Given the description of an element on the screen output the (x, y) to click on. 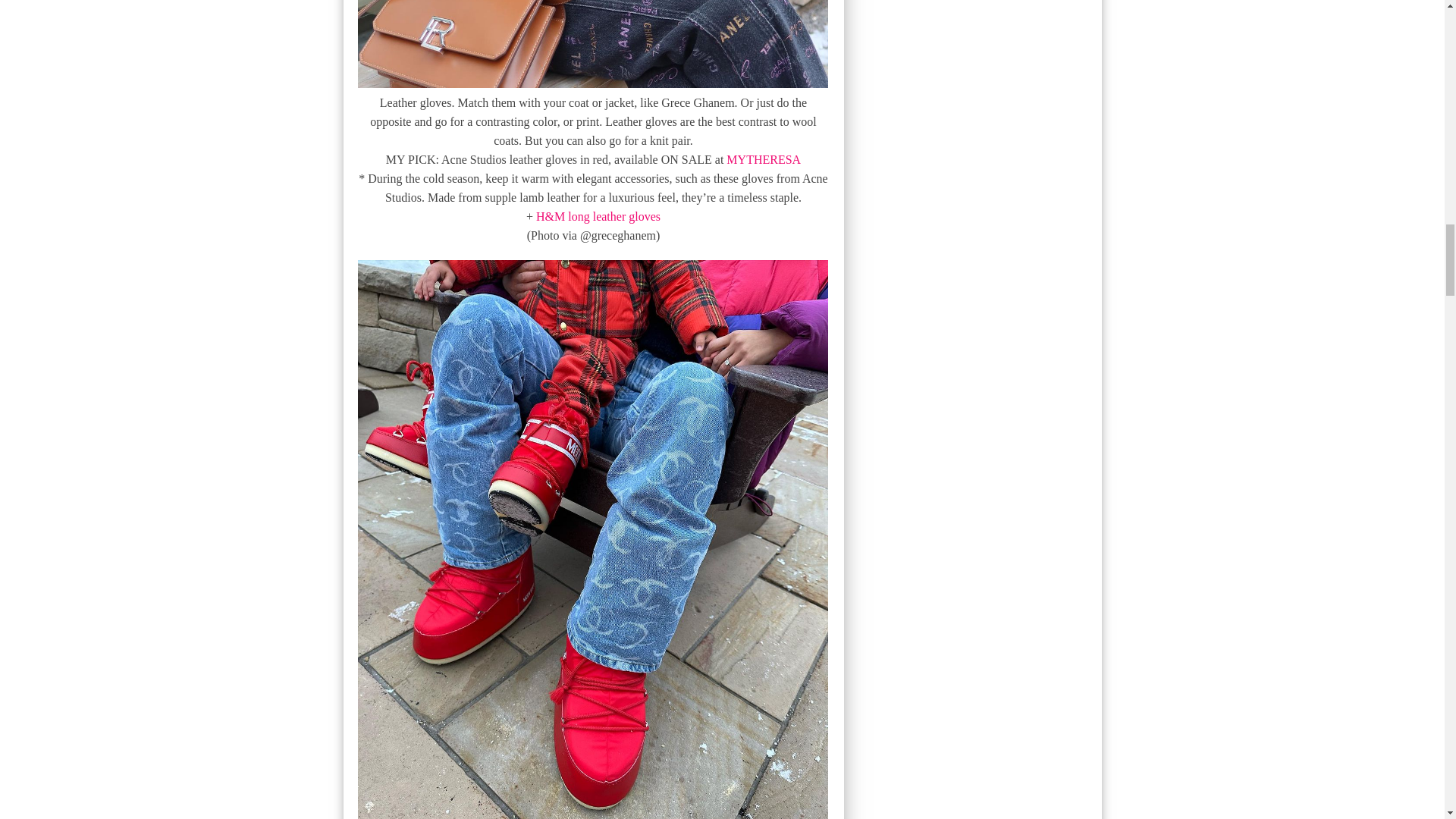
MYTHERESA (763, 159)
